Given the description of an element on the screen output the (x, y) to click on. 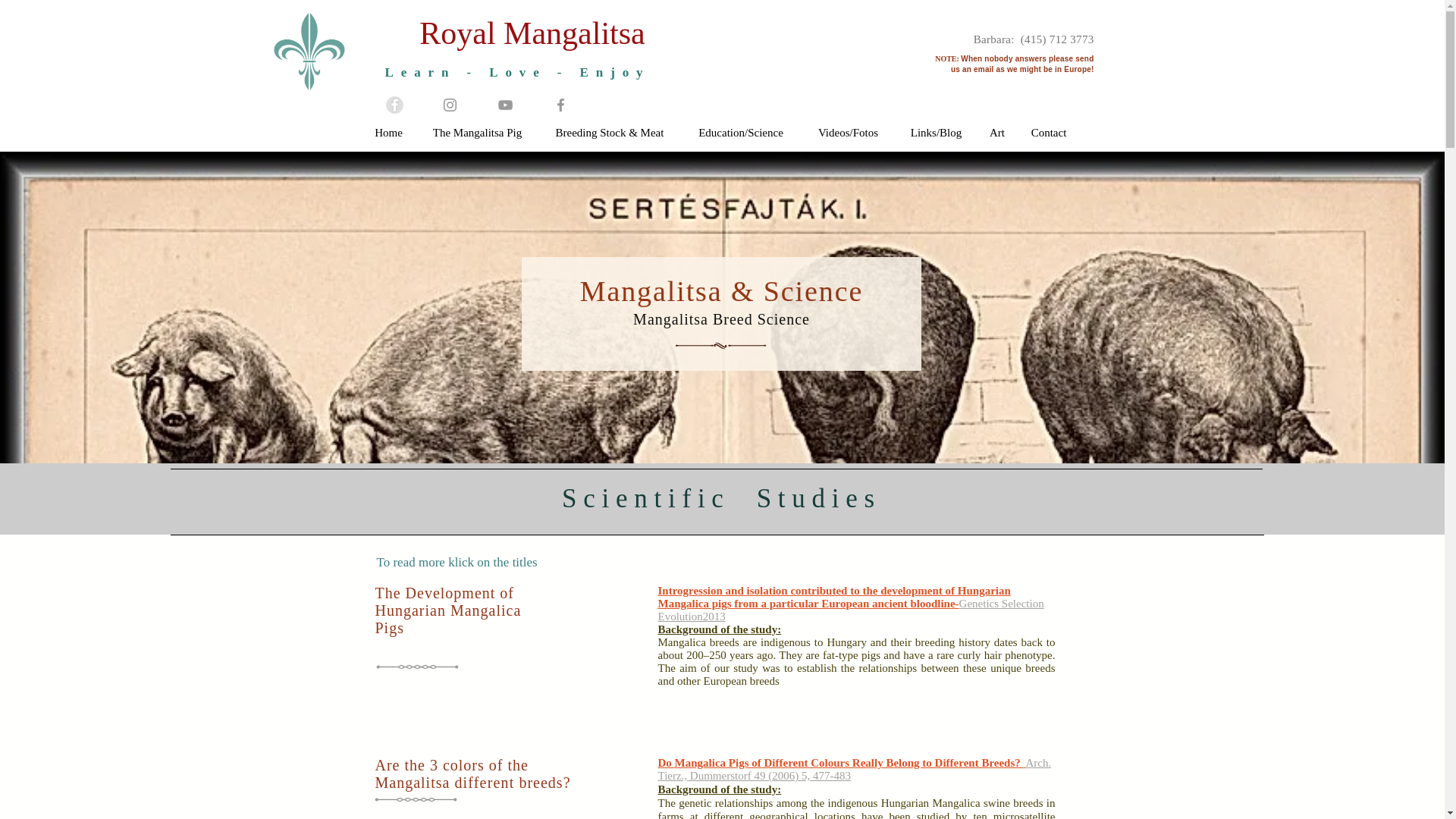
The Development of Hungarian Mangalica Pigs   (447, 610)
Learn - Love - Enjoy (516, 72)
Art (996, 132)
Contact (1048, 132)
Royal M (475, 32)
Are the 3 colors of the Mangalitsa different breeds? (472, 775)
Home (387, 132)
angalitsa (588, 32)
